Given the description of an element on the screen output the (x, y) to click on. 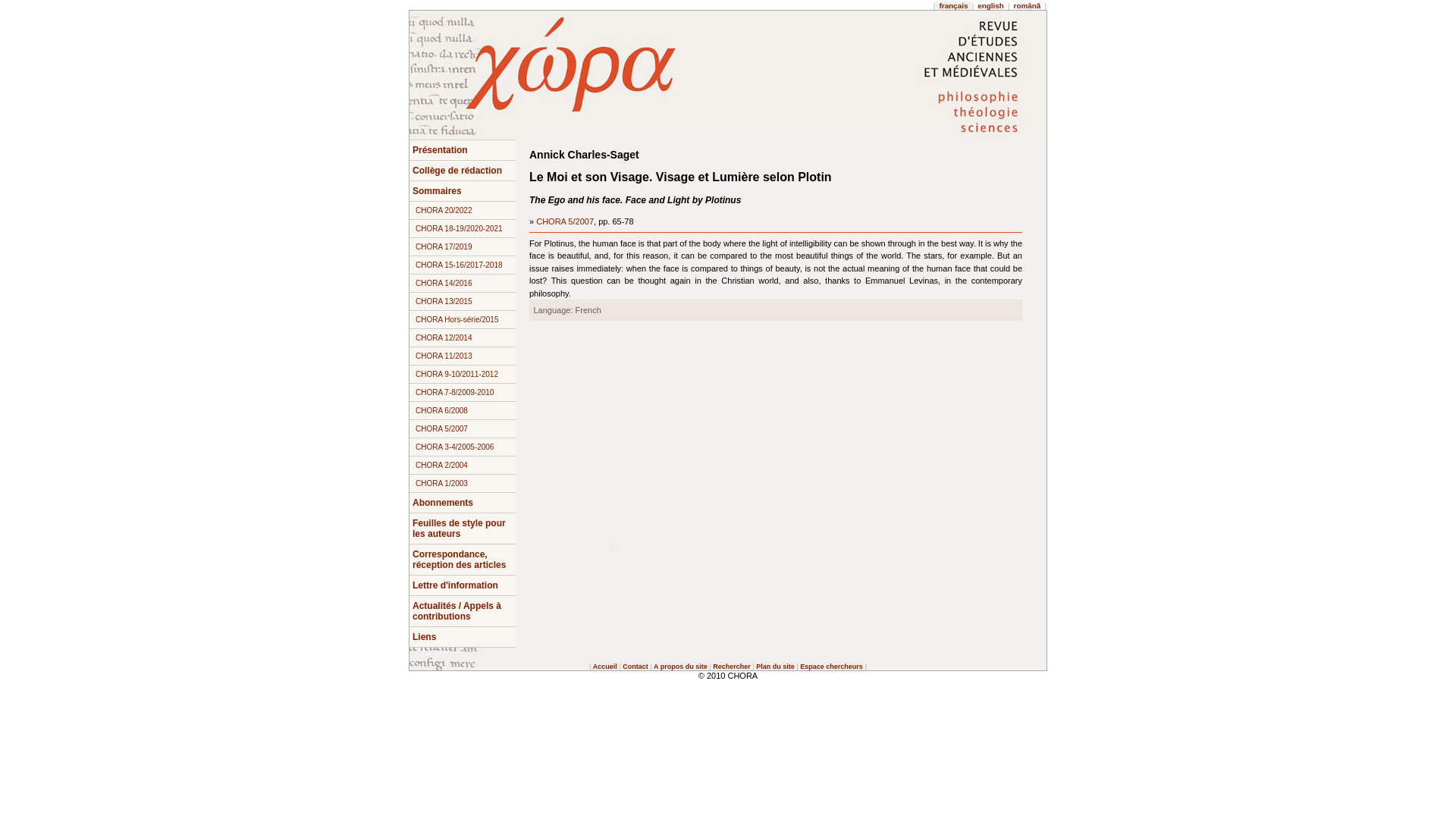
Feuilles de style pour les auteurs (462, 528)
en francais (954, 5)
Liens (462, 637)
Espace chercheurs (831, 666)
Plan du site (774, 666)
in english (990, 5)
A propos du site (680, 666)
Rechercher (732, 666)
Contact (635, 666)
english (990, 5)
